Given the description of an element on the screen output the (x, y) to click on. 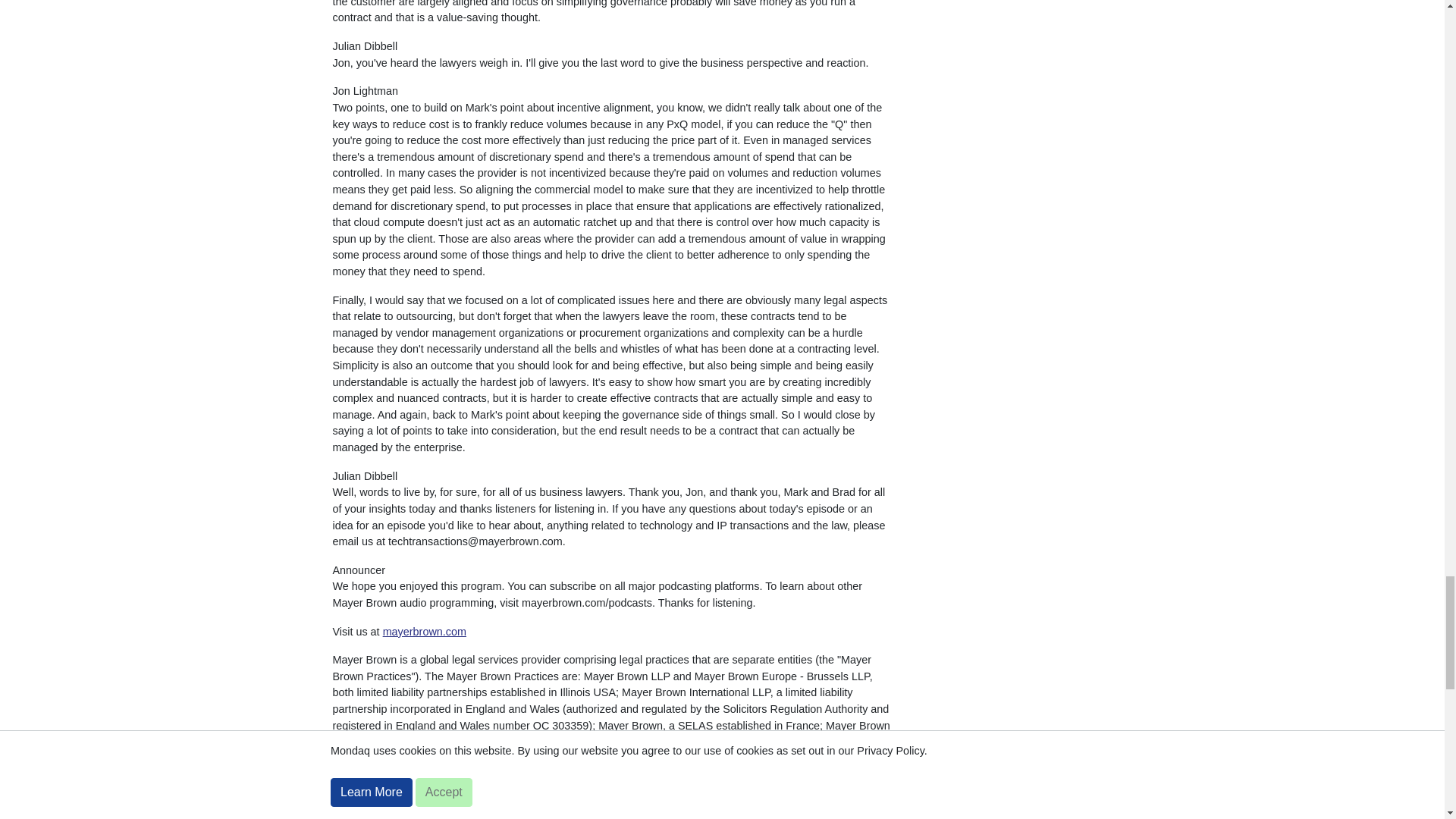
mayerbrown.com (423, 631)
